Given the description of an element on the screen output the (x, y) to click on. 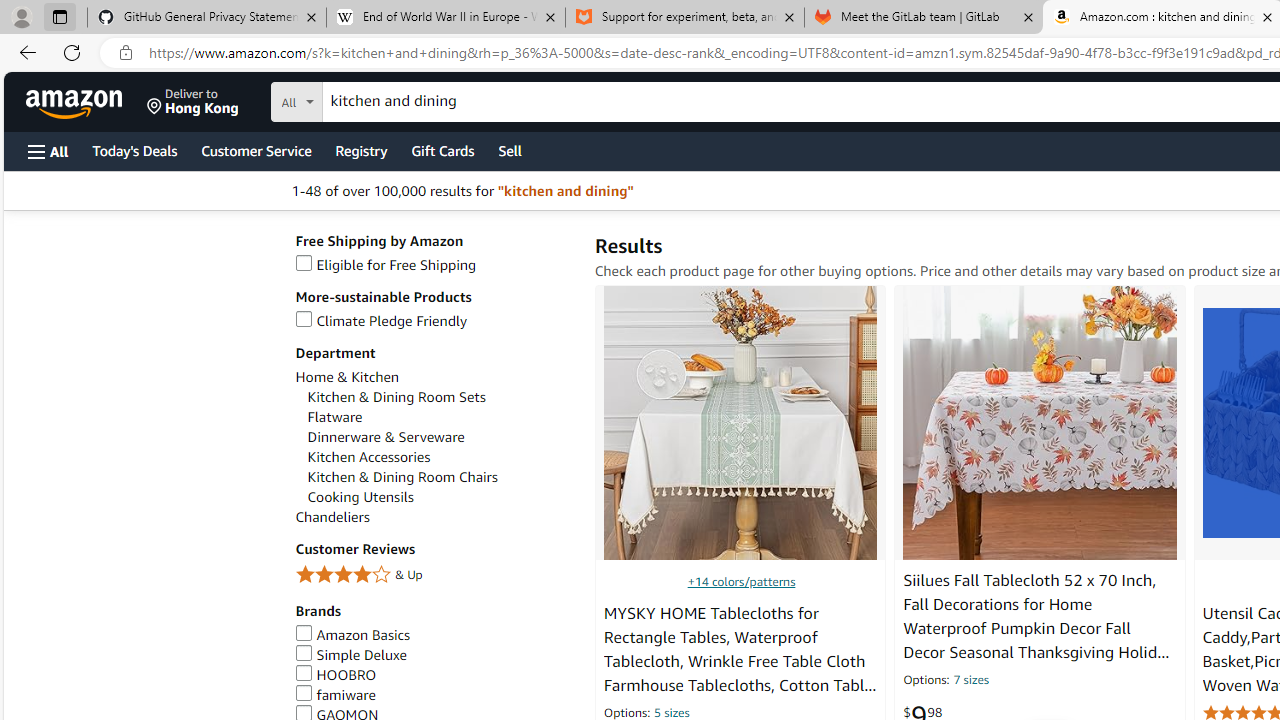
Kitchen & Dining Room Sets (440, 397)
famiware (335, 694)
4 Stars & Up& Up (434, 576)
Chandeliers (331, 517)
Home & Kitchen (346, 377)
Chandeliers (434, 517)
Simple Deluxe (351, 655)
famiware (434, 695)
Kitchen & Dining Room Chairs (402, 477)
